Given the description of an element on the screen output the (x, y) to click on. 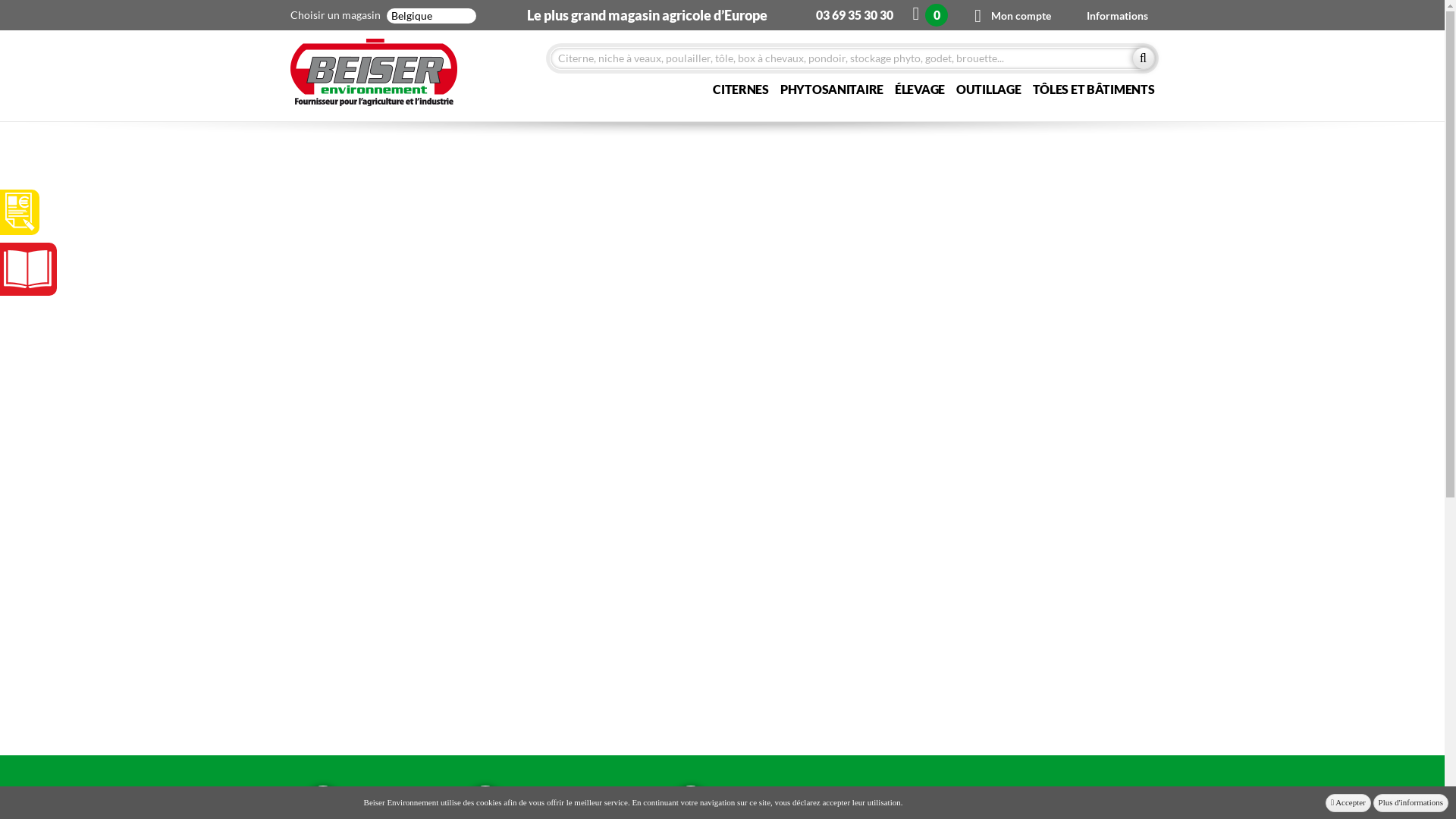
PHYTOSANITAIRE Element type: text (831, 88)
Mon compte Element type: text (1015, 14)
0 Element type: text (931, 15)
CITERNES Element type: text (740, 88)
Chercher Element type: hover (1143, 58)
Plus d'informations Element type: text (1410, 802)
OUTILLAGE Element type: text (988, 88)
Informations Element type: text (1117, 14)
Accepter Element type: text (1348, 802)
